Given the description of an element on the screen output the (x, y) to click on. 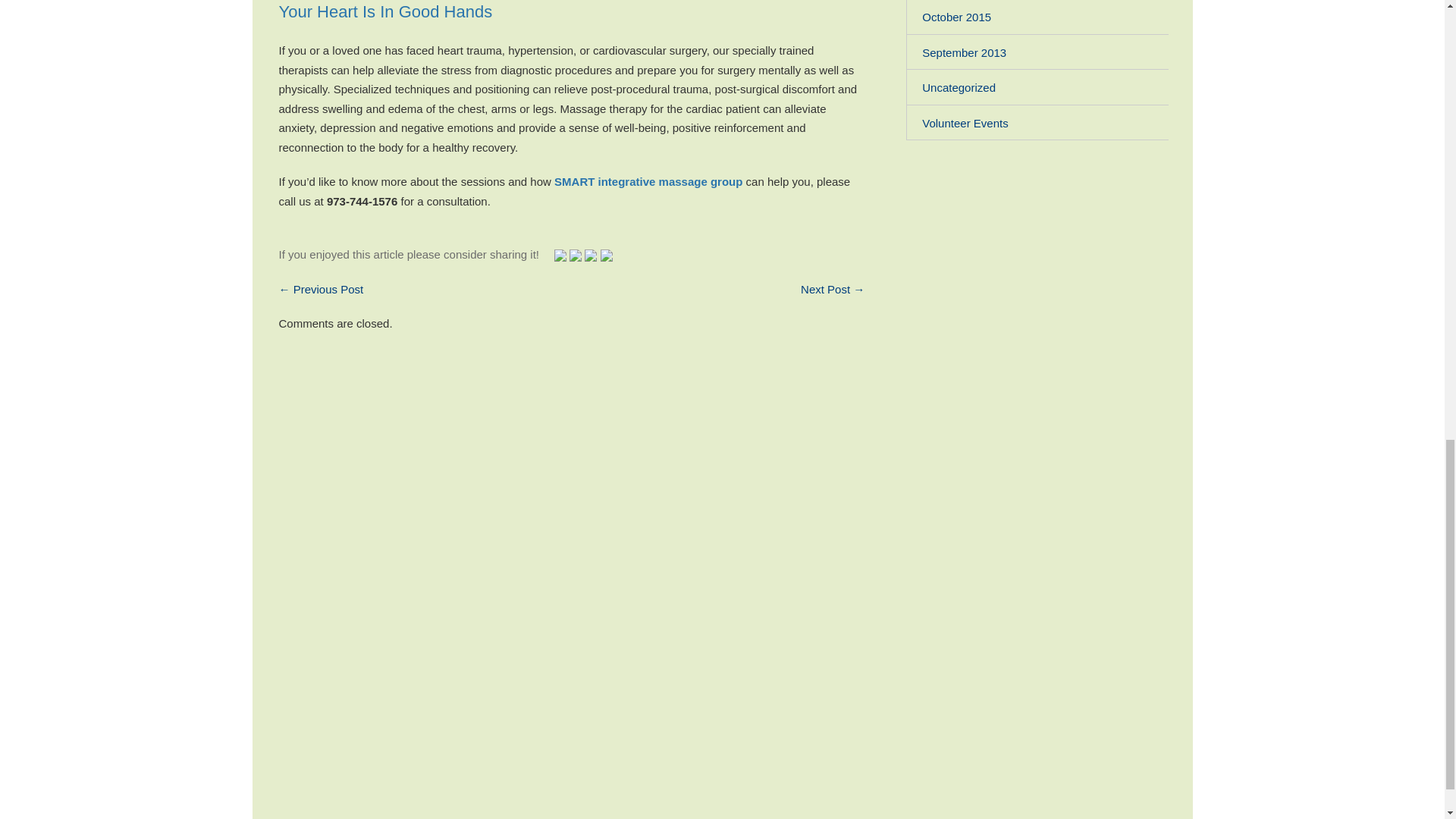
twitter (560, 255)
Tweet this! (560, 254)
Share on Facebook (590, 254)
facebook (590, 255)
Digg This! (605, 254)
upon (574, 255)
Share on StumbleUpon! (574, 254)
digg (605, 255)
